Given the description of an element on the screen output the (x, y) to click on. 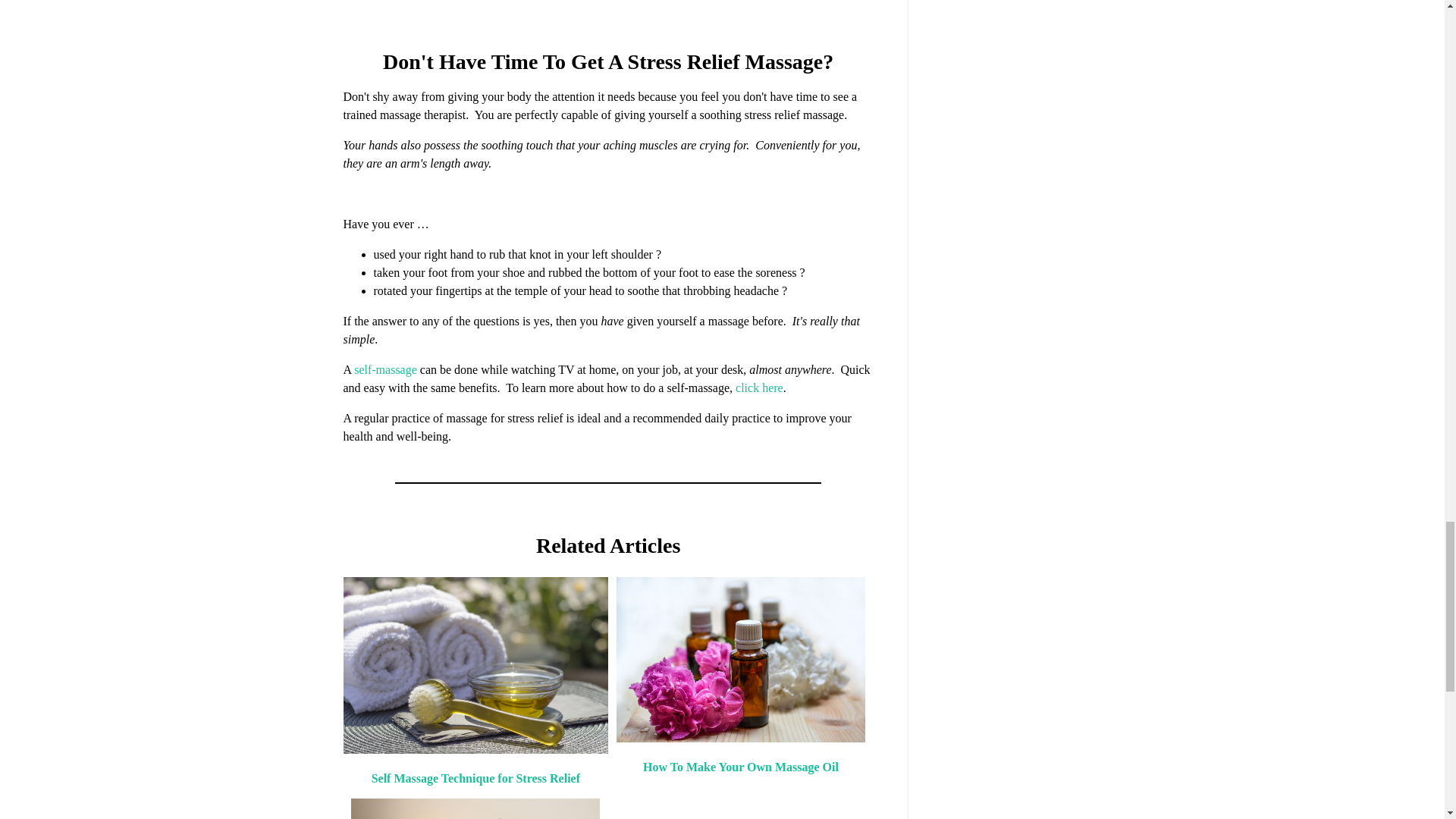
click here (759, 387)
self-massage (384, 369)
Go to Self Massage Techniques to Reduce Stress (475, 748)
How To Make Your Own Massage Oil (740, 766)
Self Massage Technique for Stress Relief (475, 778)
Go to Homemade Massage Oil Recipe (739, 738)
